Given the description of an element on the screen output the (x, y) to click on. 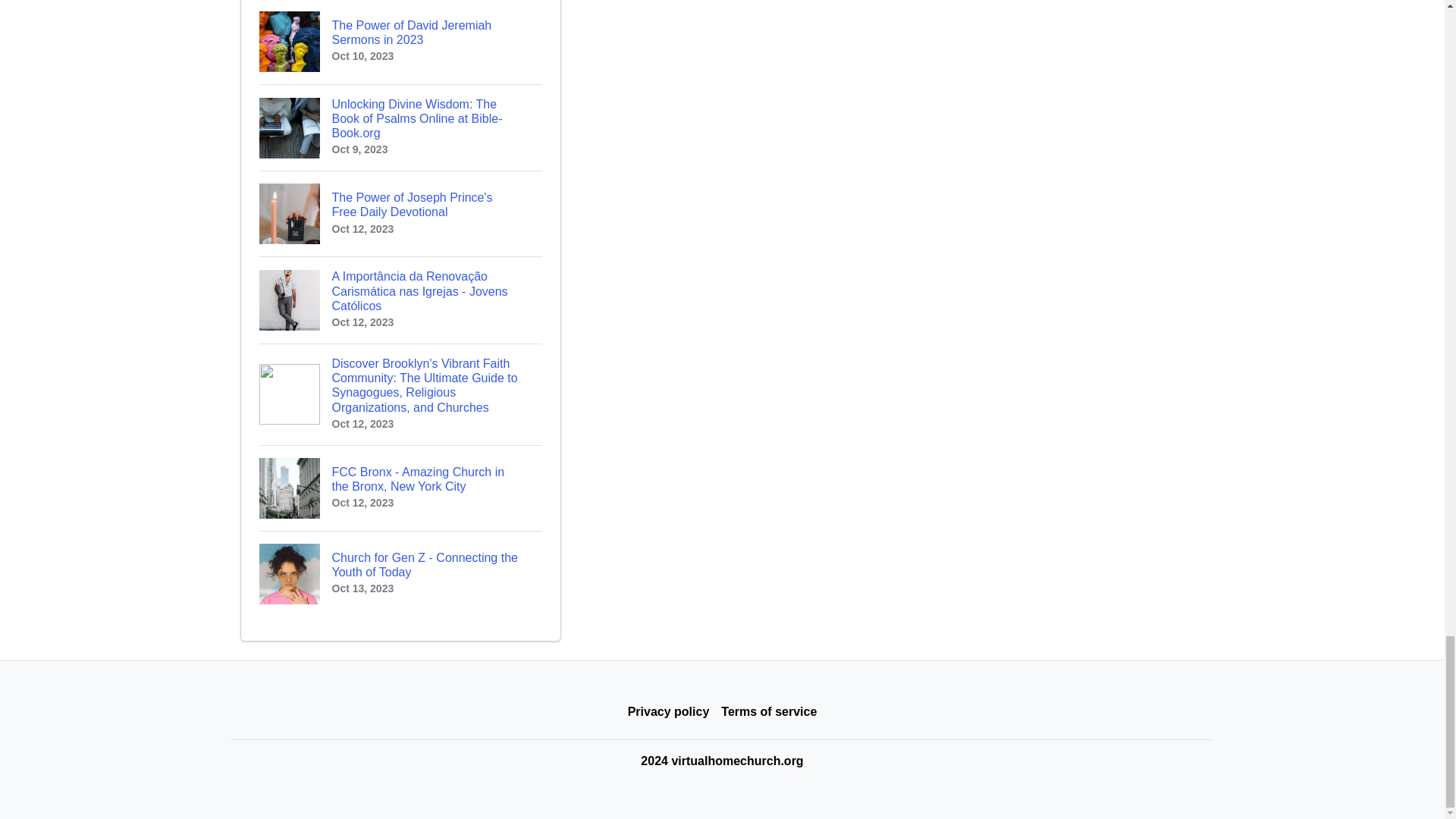
Privacy policy (668, 711)
Terms of service (401, 42)
